Given the description of an element on the screen output the (x, y) to click on. 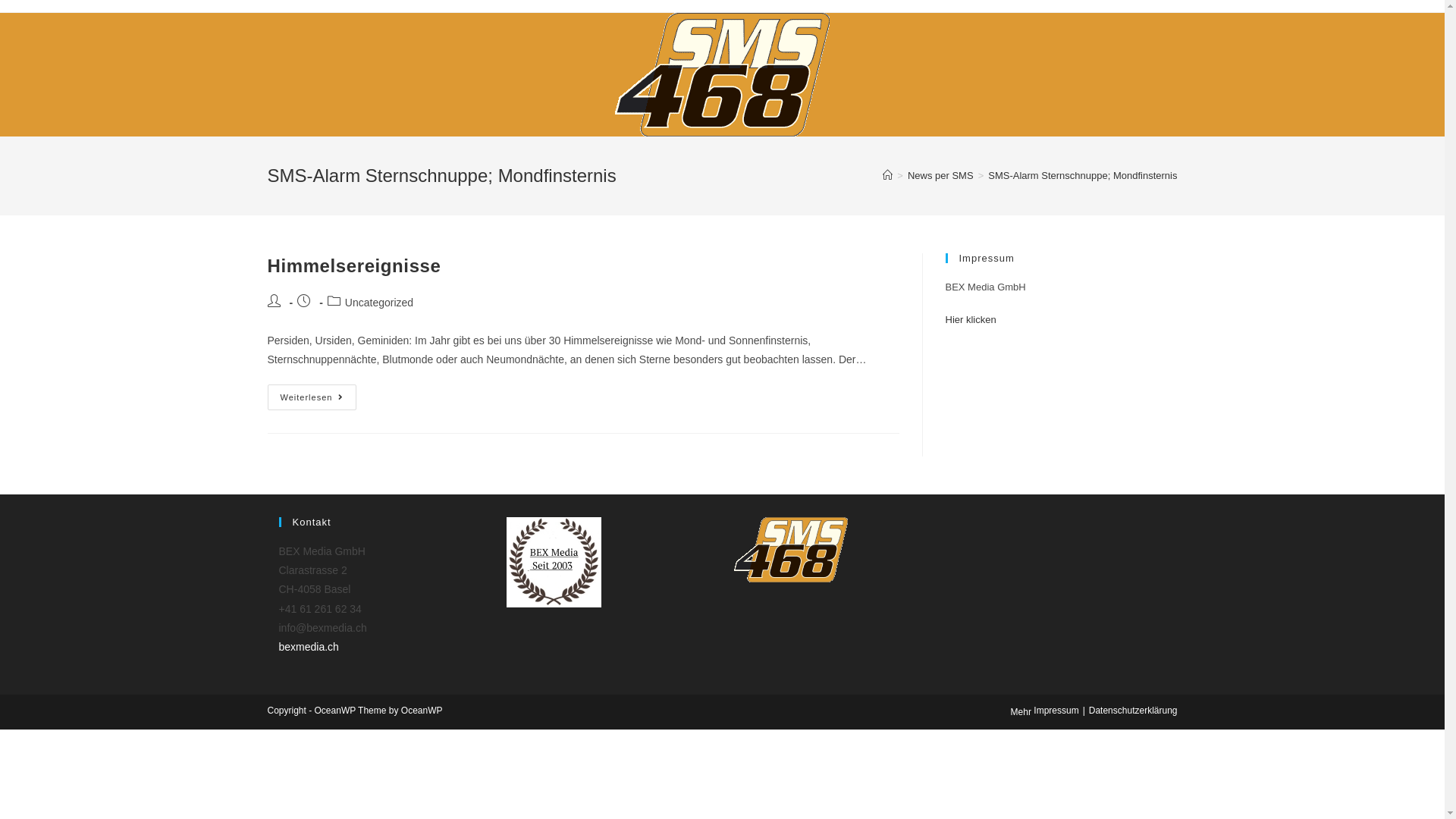
Hier klicken Element type: text (969, 319)
Uncategorized Element type: text (379, 302)
News per SMS Element type: text (940, 175)
bexmedia.ch Element type: text (308, 646)
SMS-Alarm Sternschnuppe; Mondfinsternis Element type: text (1082, 175)
Impressum Element type: text (1055, 710)
Mehr Element type: text (1020, 711)
Weiterlesen
Himmelsereignisse Element type: text (311, 397)
Himmelsereignisse Element type: text (353, 265)
